Given the description of an element on the screen output the (x, y) to click on. 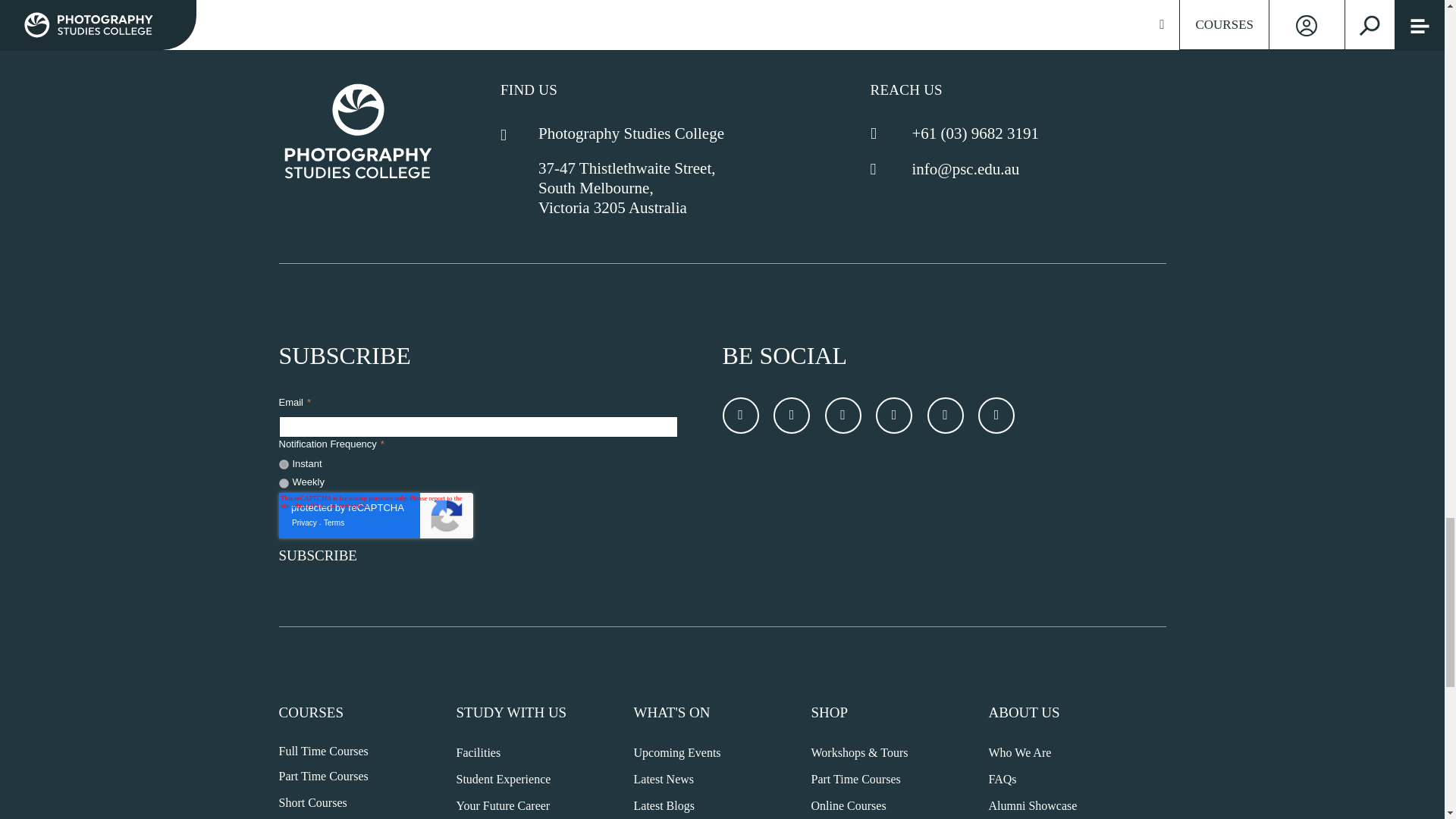
Photography Studies College (358, 131)
reCAPTCHA (376, 515)
Instant (283, 464)
Subscribe (341, 555)
Weekly (283, 483)
